Given the description of an element on the screen output the (x, y) to click on. 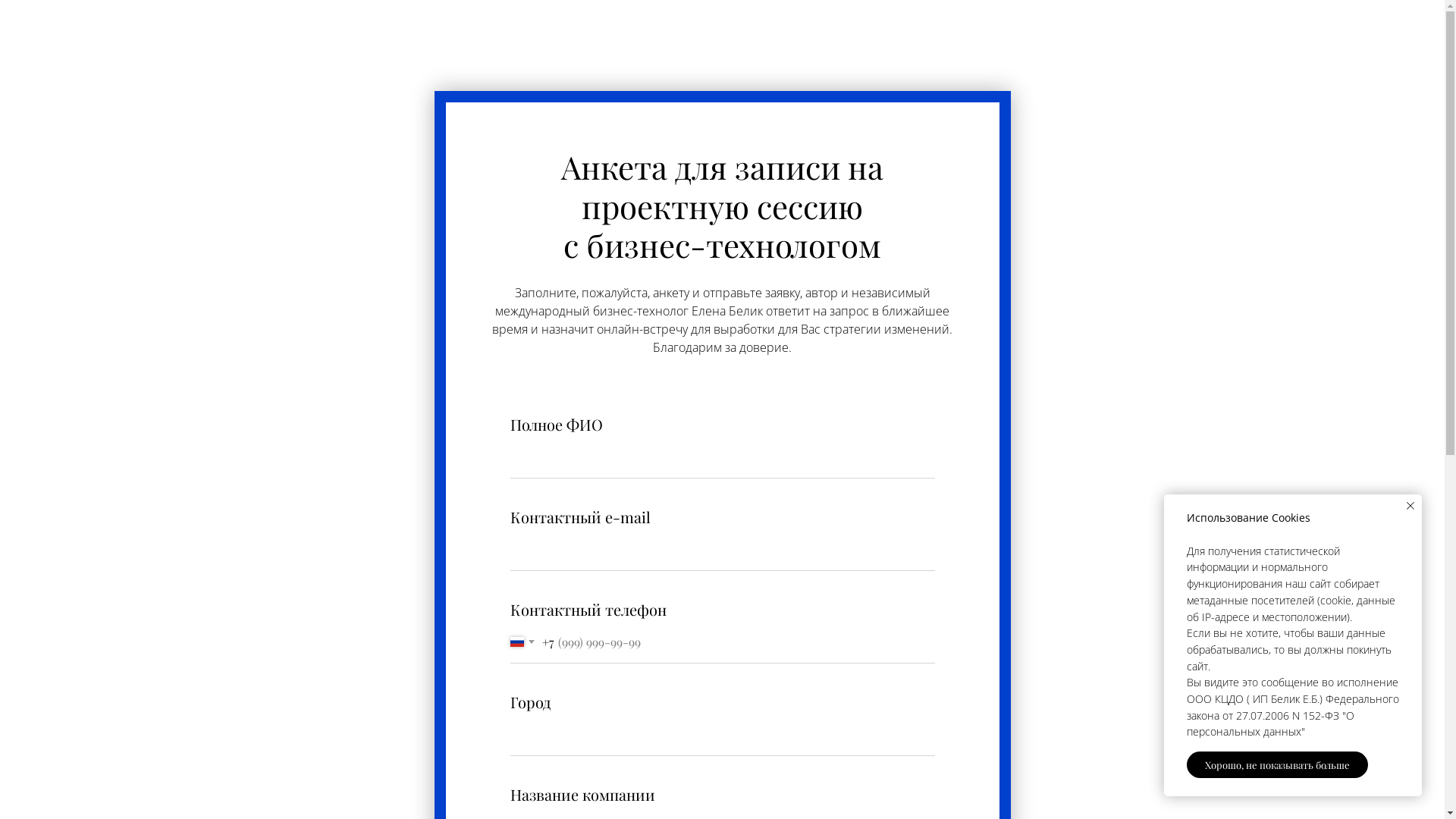
Close Element type: text (1410, 505)
